Given the description of an element on the screen output the (x, y) to click on. 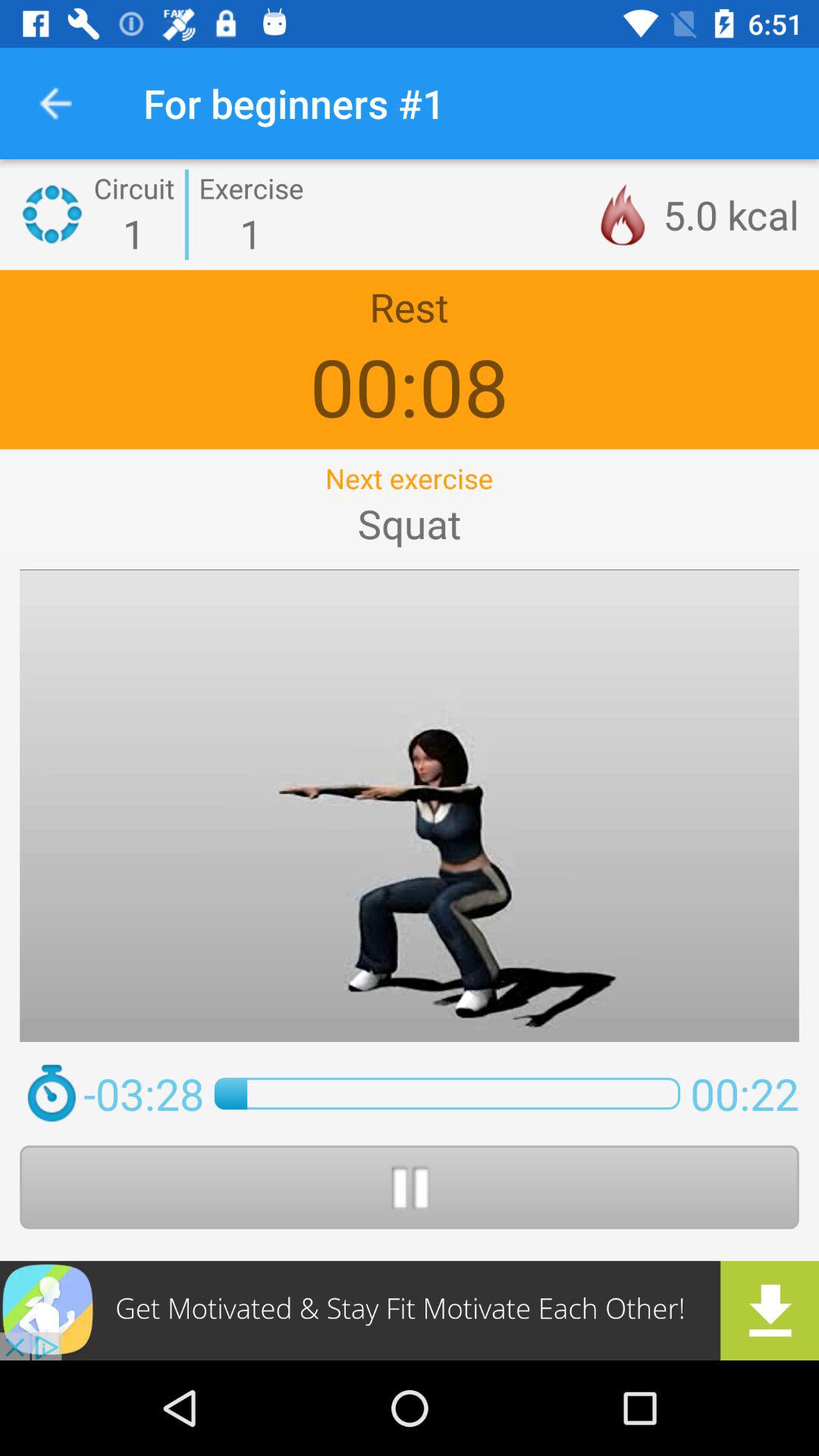
turn video on (409, 1187)
